Given the description of an element on the screen output the (x, y) to click on. 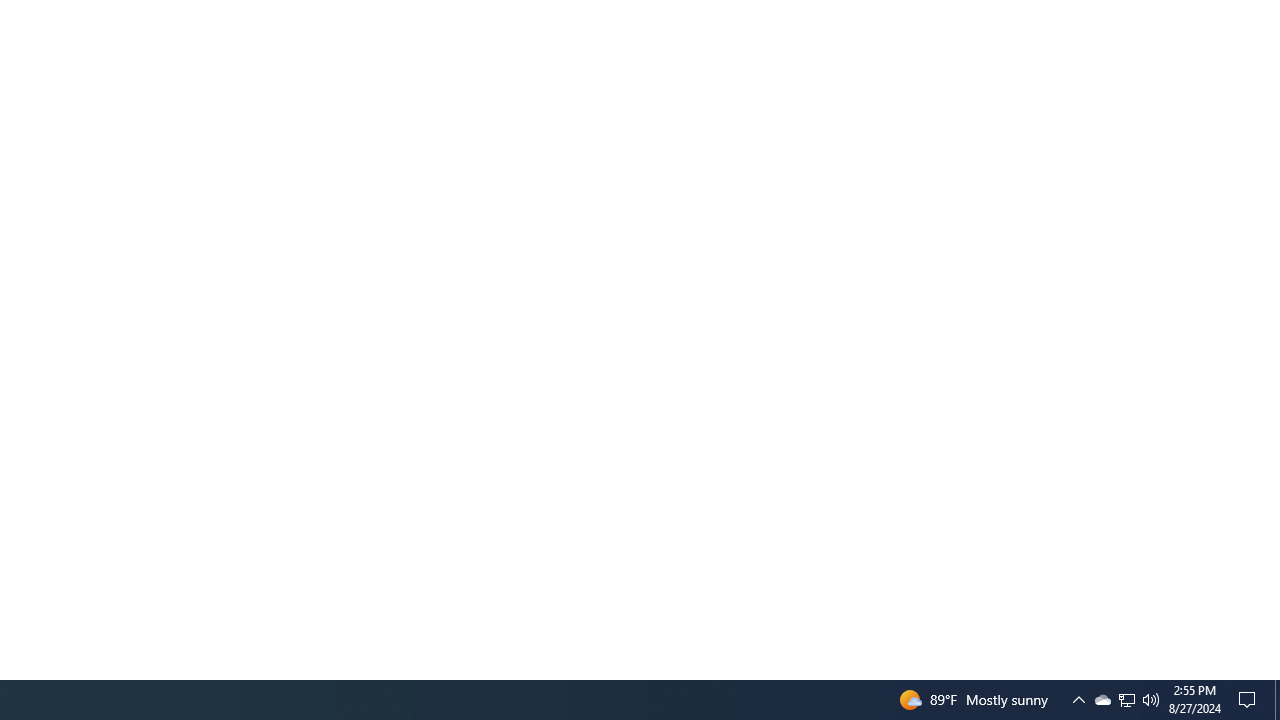
Show desktop (1277, 699)
Q2790: 100% (1151, 699)
User Promoted Notification Area (1102, 699)
Notification Chevron (1126, 699)
Action Center, No new notifications (1126, 699)
